Given the description of an element on the screen output the (x, y) to click on. 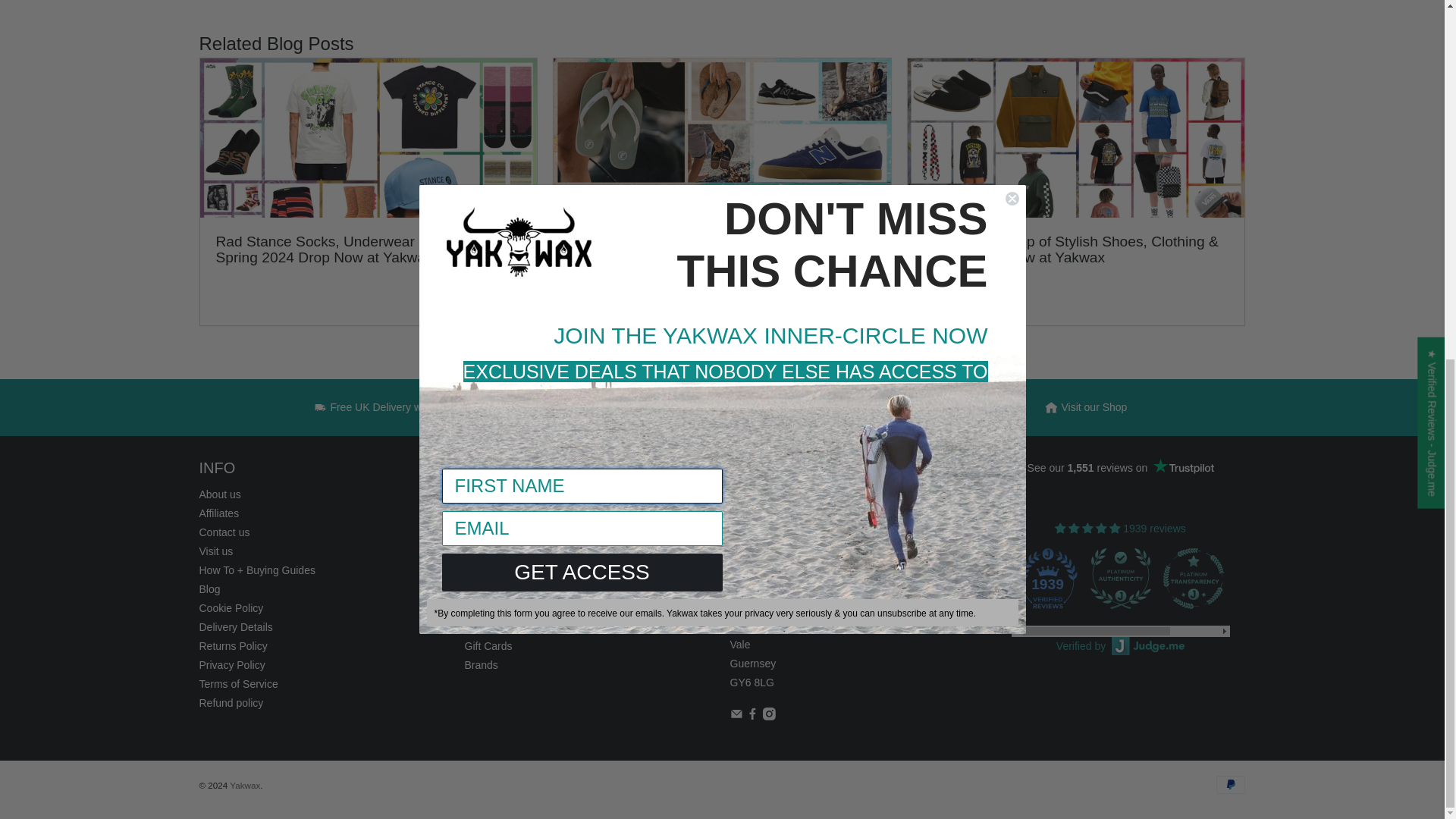
PayPal (1229, 784)
